Given the description of an element on the screen output the (x, y) to click on. 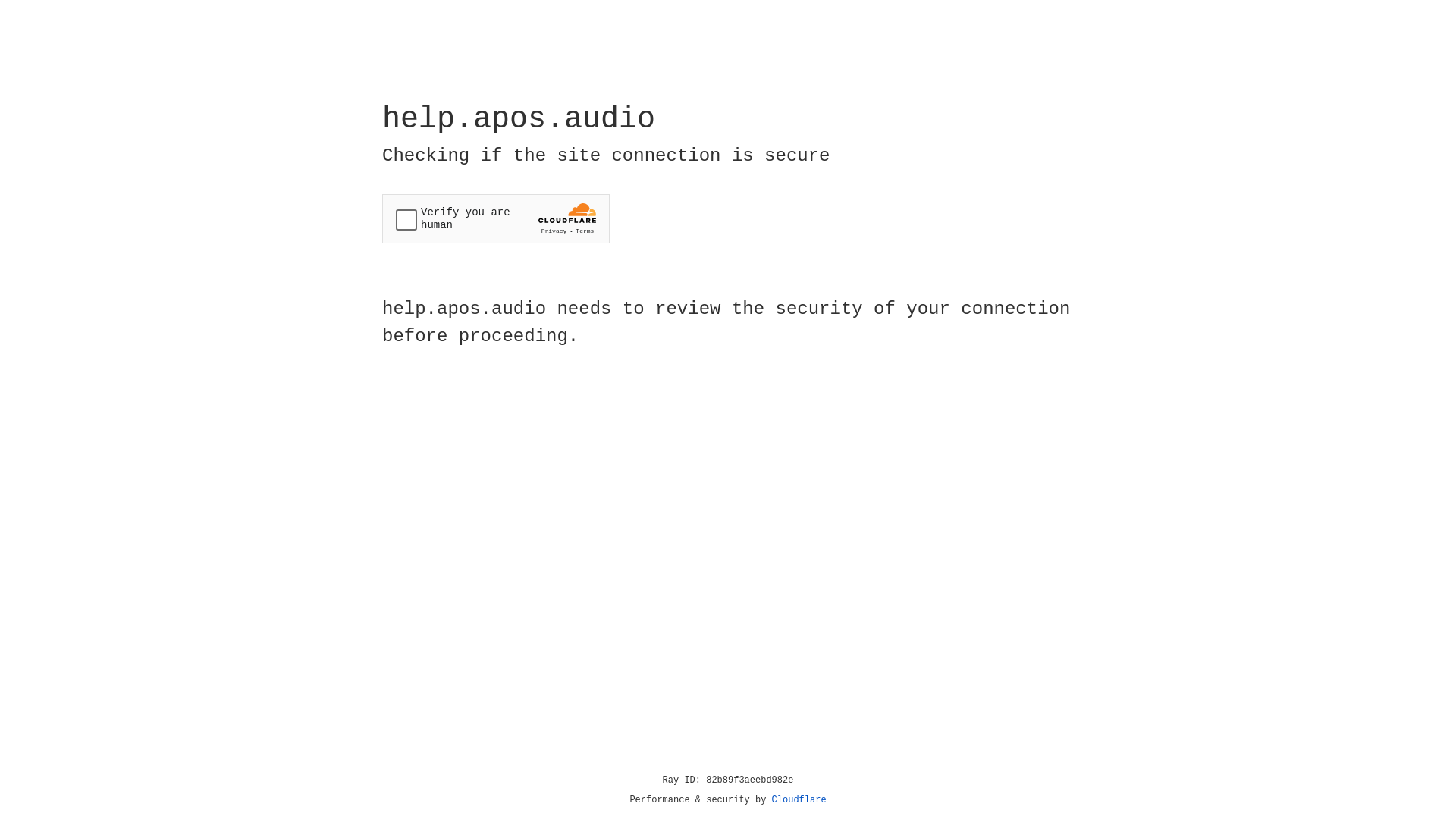
Widget containing a Cloudflare security challenge Element type: hover (495, 218)
Cloudflare Element type: text (798, 799)
